Given the description of an element on the screen output the (x, y) to click on. 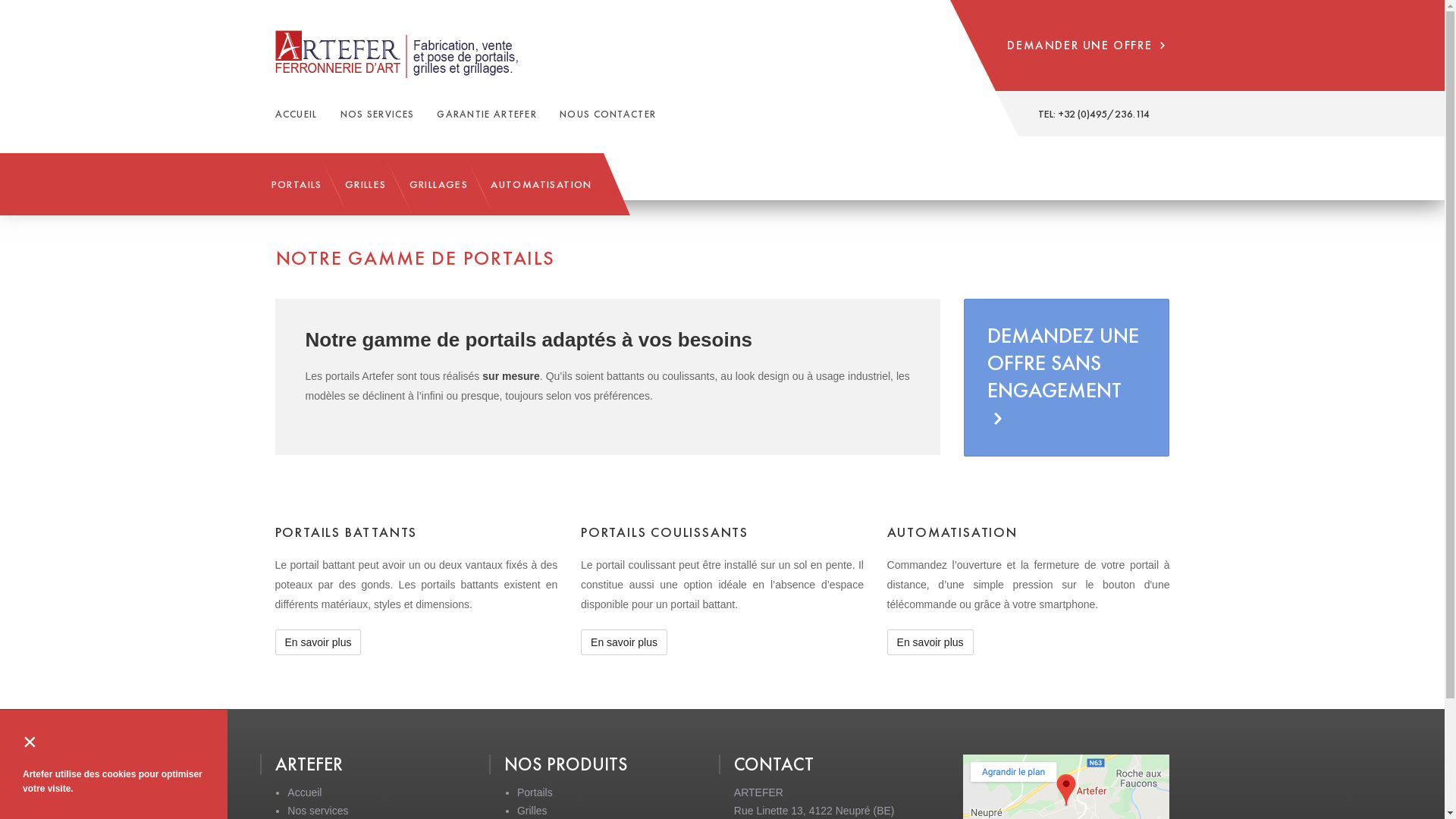
En savoir plus Element type: text (317, 642)
DEMANDER UNE OFFRE Element type: text (1081, 45)
ACCUEIL Element type: text (295, 114)
GARANTIE ARTEFER Element type: text (486, 114)
Portails Element type: text (534, 792)
TEL: +32 (0)495/236.114 Element type: text (1093, 113)
GRILLAGES Element type: text (439, 184)
GRILLES Element type: text (365, 184)
Artefer - Ferronnerie d'art Element type: text (405, 54)
AUTOMATISATION Element type: text (541, 184)
DEMANDEZ UNE OFFRE SANS ENGAGEMENT Element type: text (1066, 377)
En savoir plus Element type: text (930, 642)
NOUS CONTACTER Element type: text (607, 114)
Accueil Element type: text (304, 792)
NOS SERVICES Element type: text (377, 114)
En savoir plus Element type: text (623, 642)
PORTAILS Element type: text (295, 184)
